Given the description of an element on the screen output the (x, y) to click on. 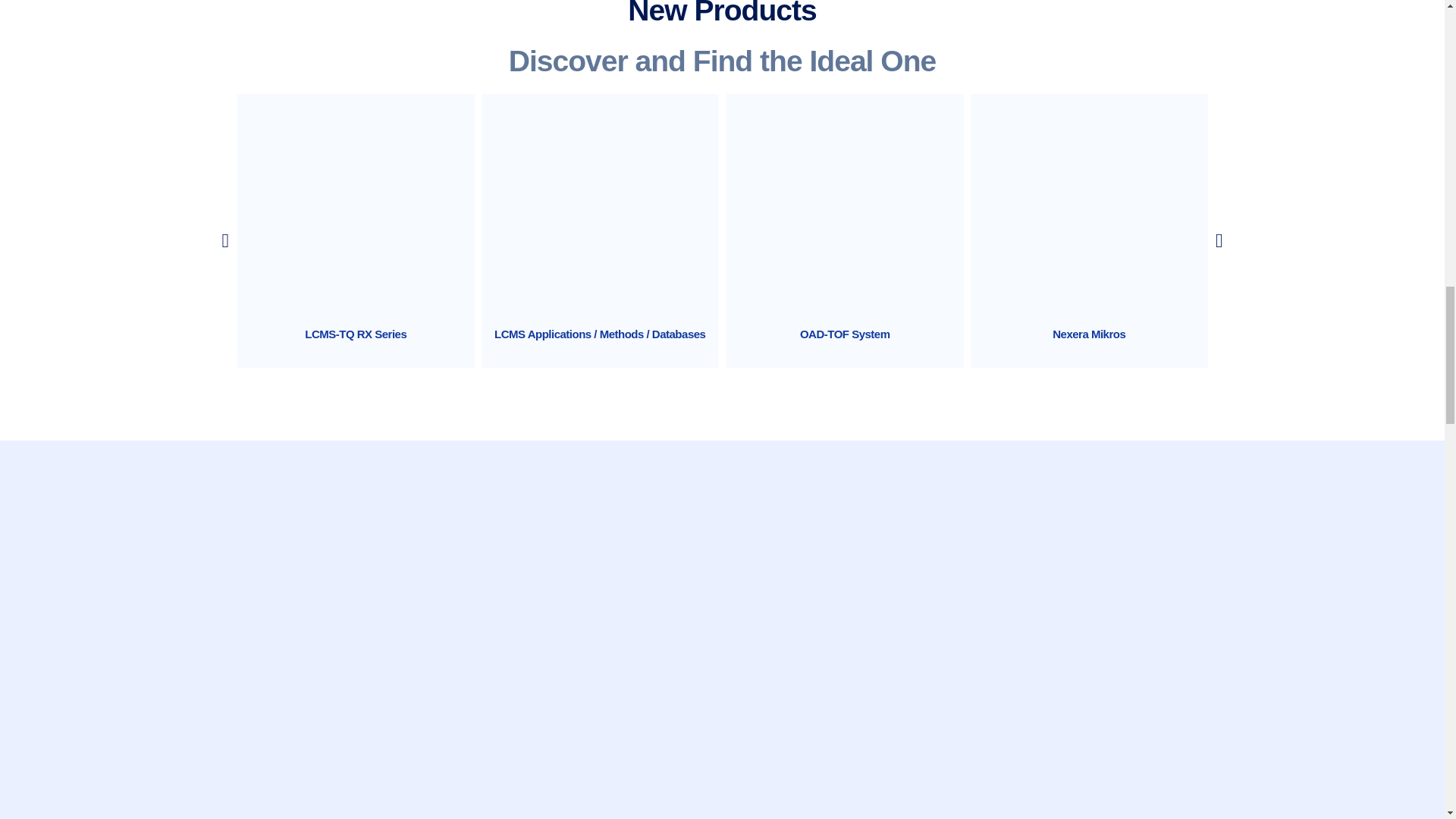
OAD-TOF System (844, 333)
Nexera Mikros (1088, 333)
LCMS-TQ RX Series (355, 333)
